Given the description of an element on the screen output the (x, y) to click on. 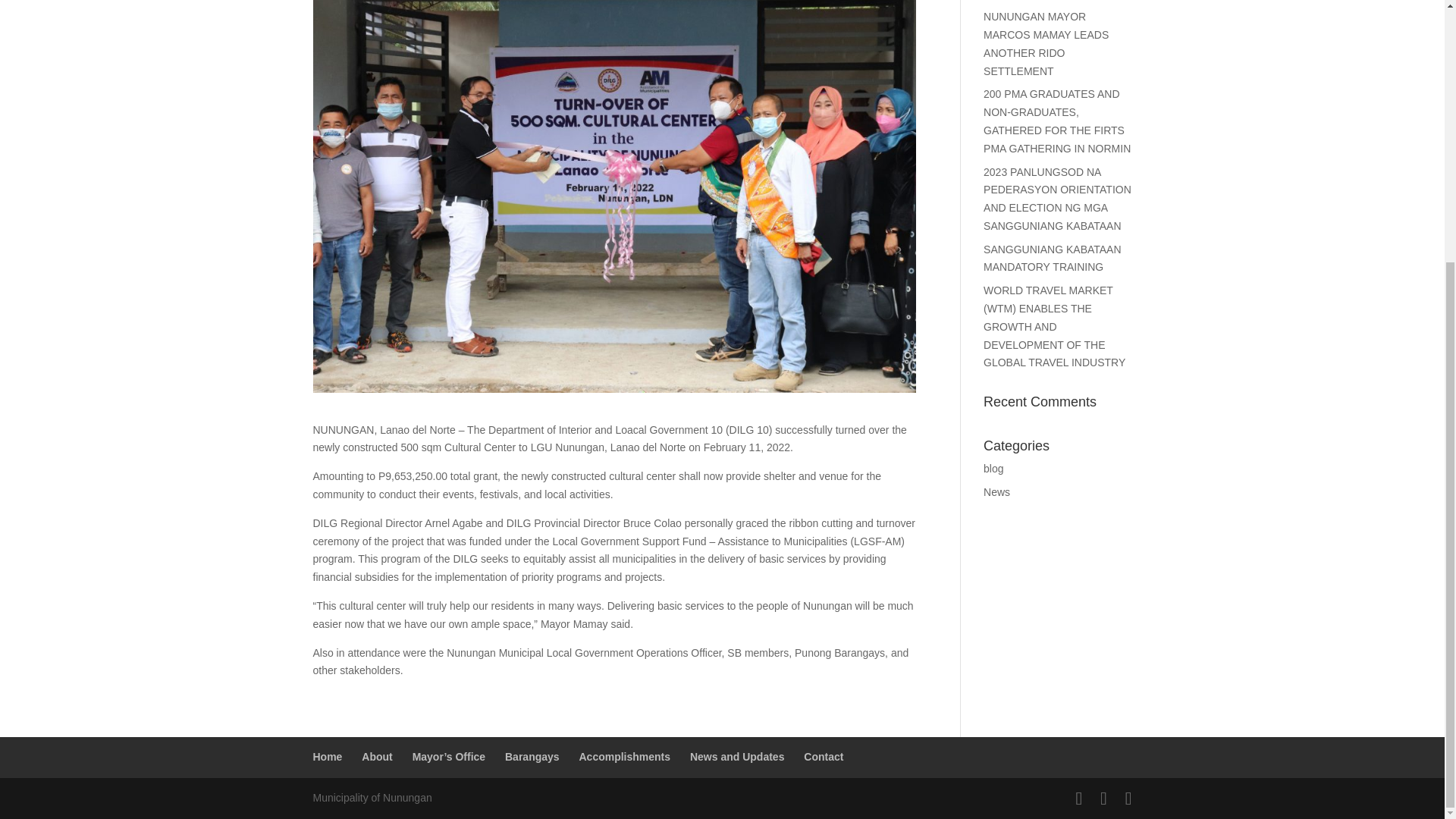
Contact (823, 756)
News and Updates (737, 756)
blog (993, 468)
Home (327, 756)
Accomplishments (623, 756)
About (376, 756)
News (997, 491)
Barangays (532, 756)
